Given the description of an element on the screen output the (x, y) to click on. 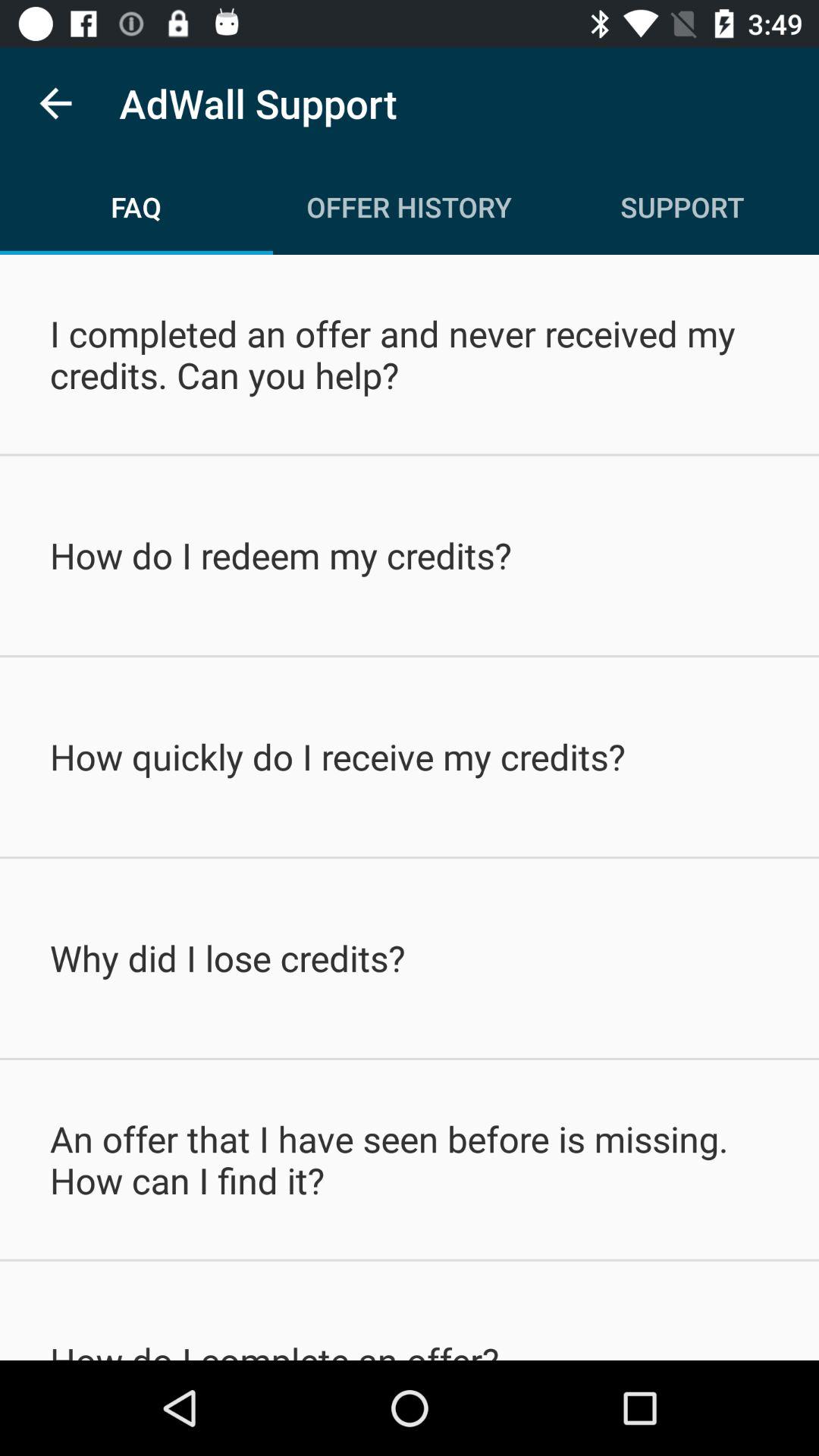
scroll to why did i item (409, 957)
